Given the description of an element on the screen output the (x, y) to click on. 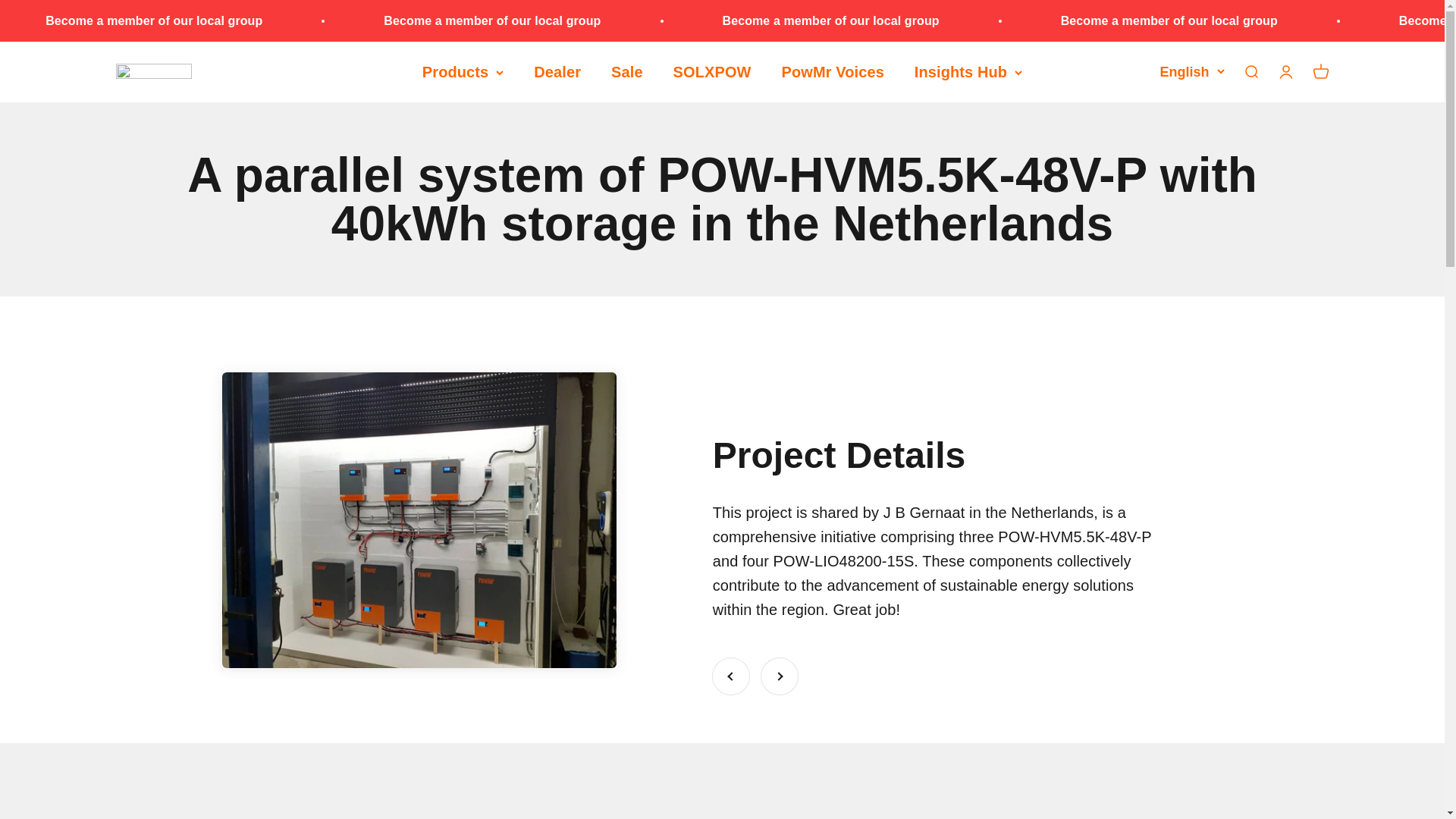
Dealer (557, 71)
Become a member of our local group (491, 20)
PowMr Voices (832, 71)
Become a member of our local group (1169, 20)
Sale (627, 71)
English (1191, 72)
SOLXPOW (711, 71)
Become a member of our local group (830, 20)
PowMr (152, 72)
YouTube video player (327, 805)
